Given the description of an element on the screen output the (x, y) to click on. 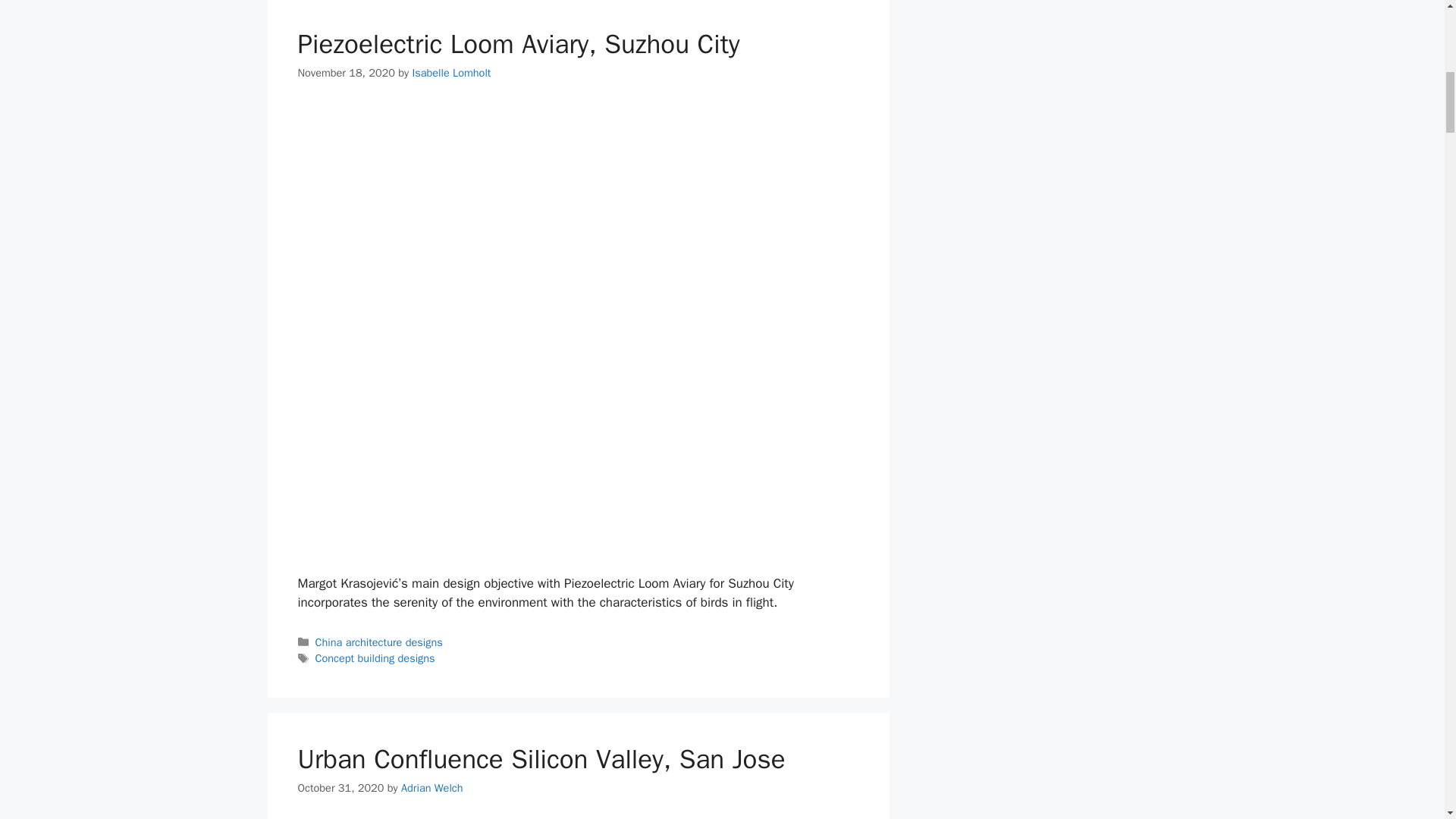
View all posts by Adrian Welch (432, 787)
View all posts by Isabelle Lomholt (451, 72)
Isabelle Lomholt (451, 72)
Urban Confluence Silicon Valley, San Jose (540, 758)
Adrian Welch (432, 787)
China architecture designs (378, 642)
Concept building designs (375, 658)
Piezoelectric Loom Aviary, Suzhou City (518, 43)
